Given the description of an element on the screen output the (x, y) to click on. 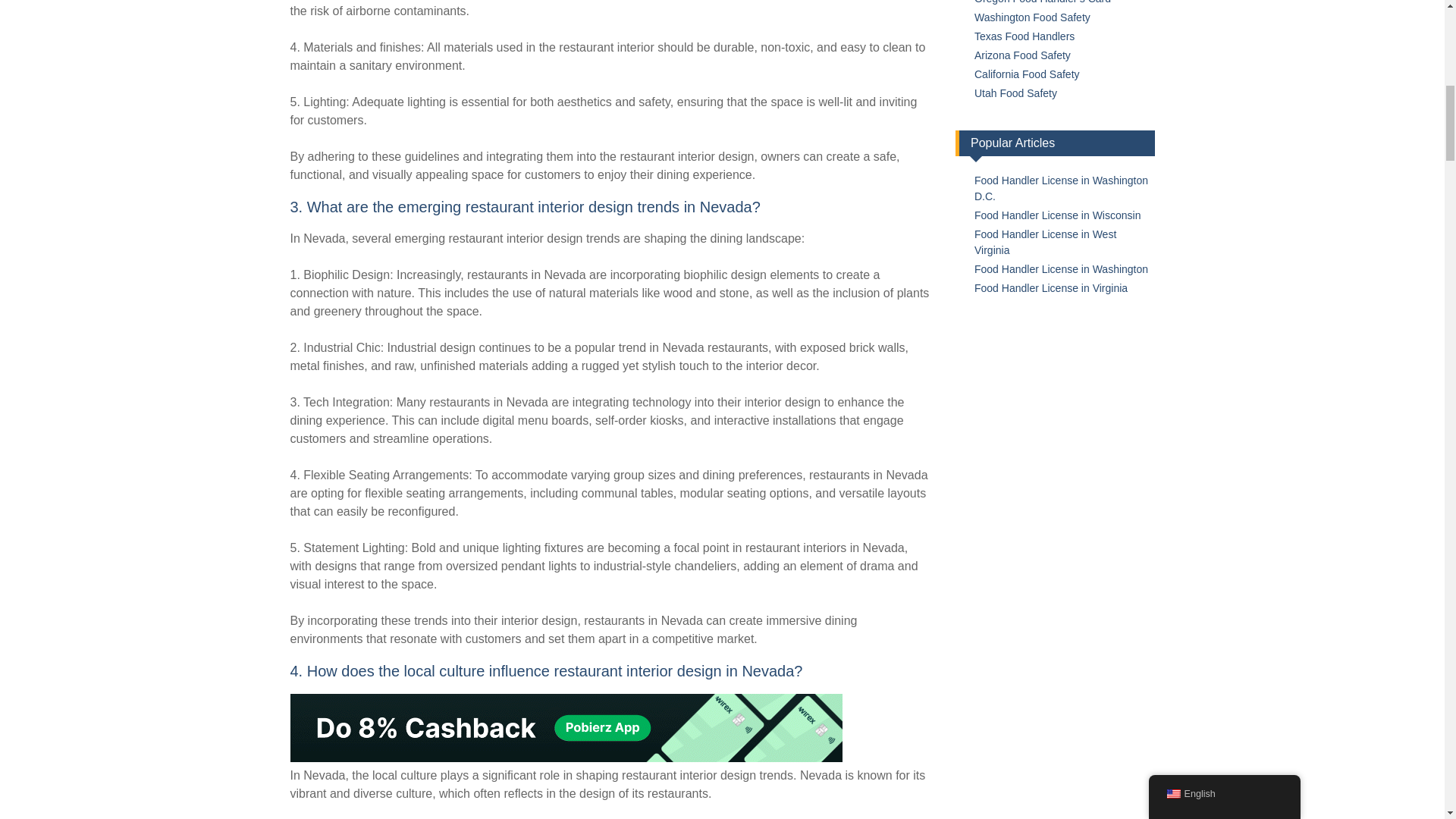
Washington Food Safety (1032, 17)
Texas Food Handlers (1024, 36)
California Food Safety (1027, 73)
Arizona Food Safety (1022, 55)
